Given the description of an element on the screen output the (x, y) to click on. 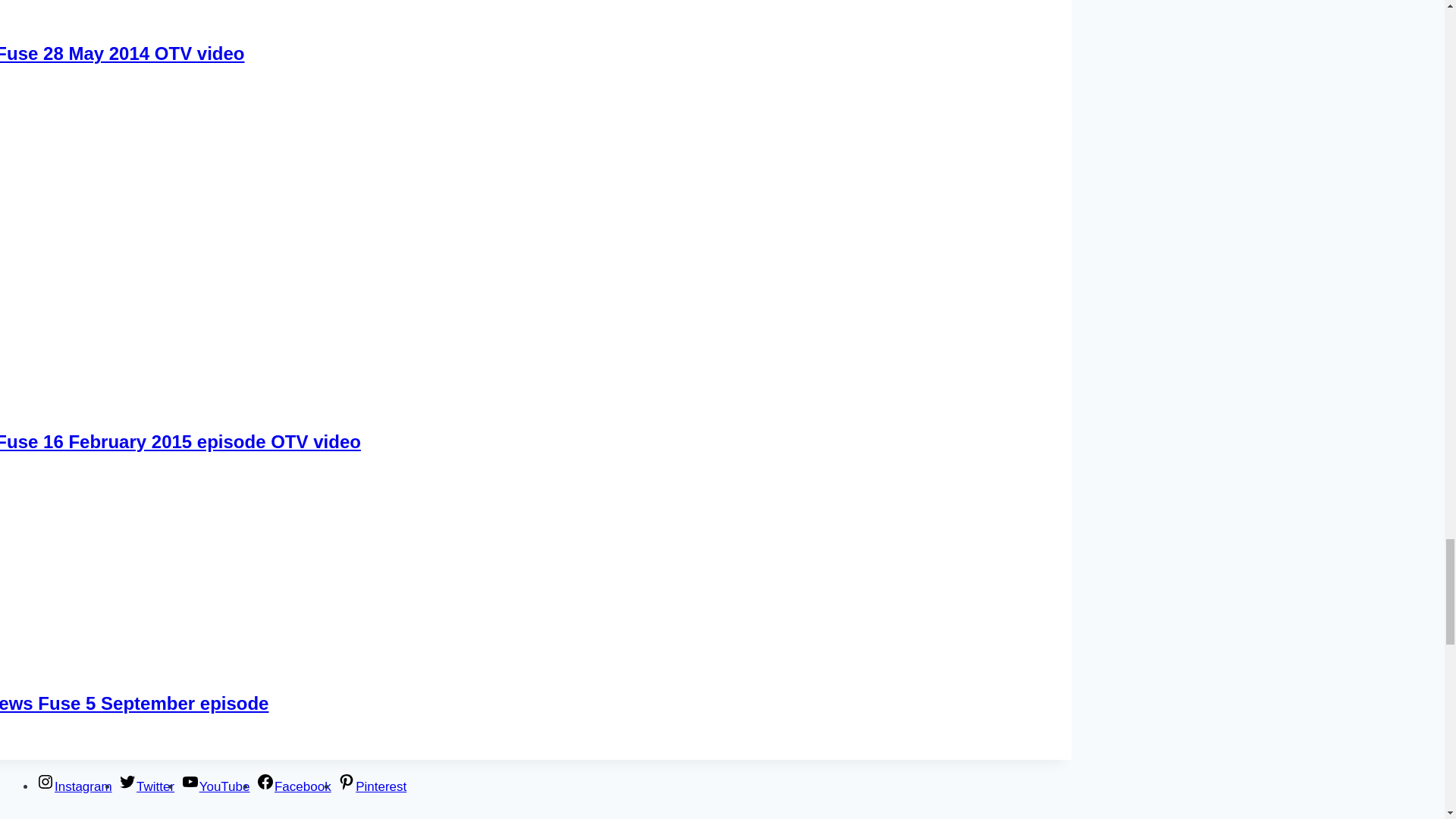
News Fuse 28 May 2014 OTV video (122, 53)
News Fuse 16 February 2015 episode OTV video (180, 441)
